Given the description of an element on the screen output the (x, y) to click on. 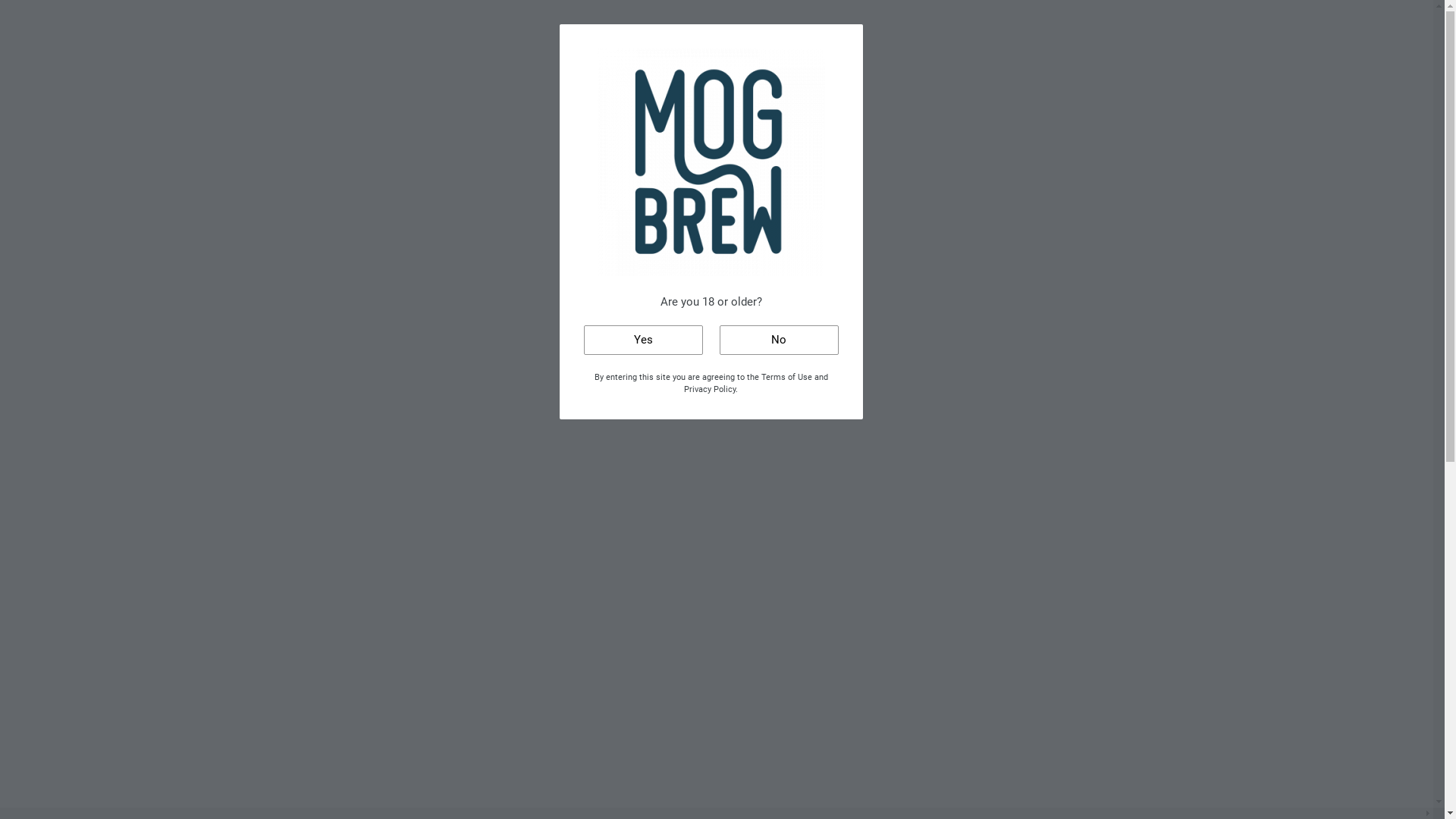
Yes Element type: text (642, 339)
No Element type: text (777, 339)
